Given the description of an element on the screen output the (x, y) to click on. 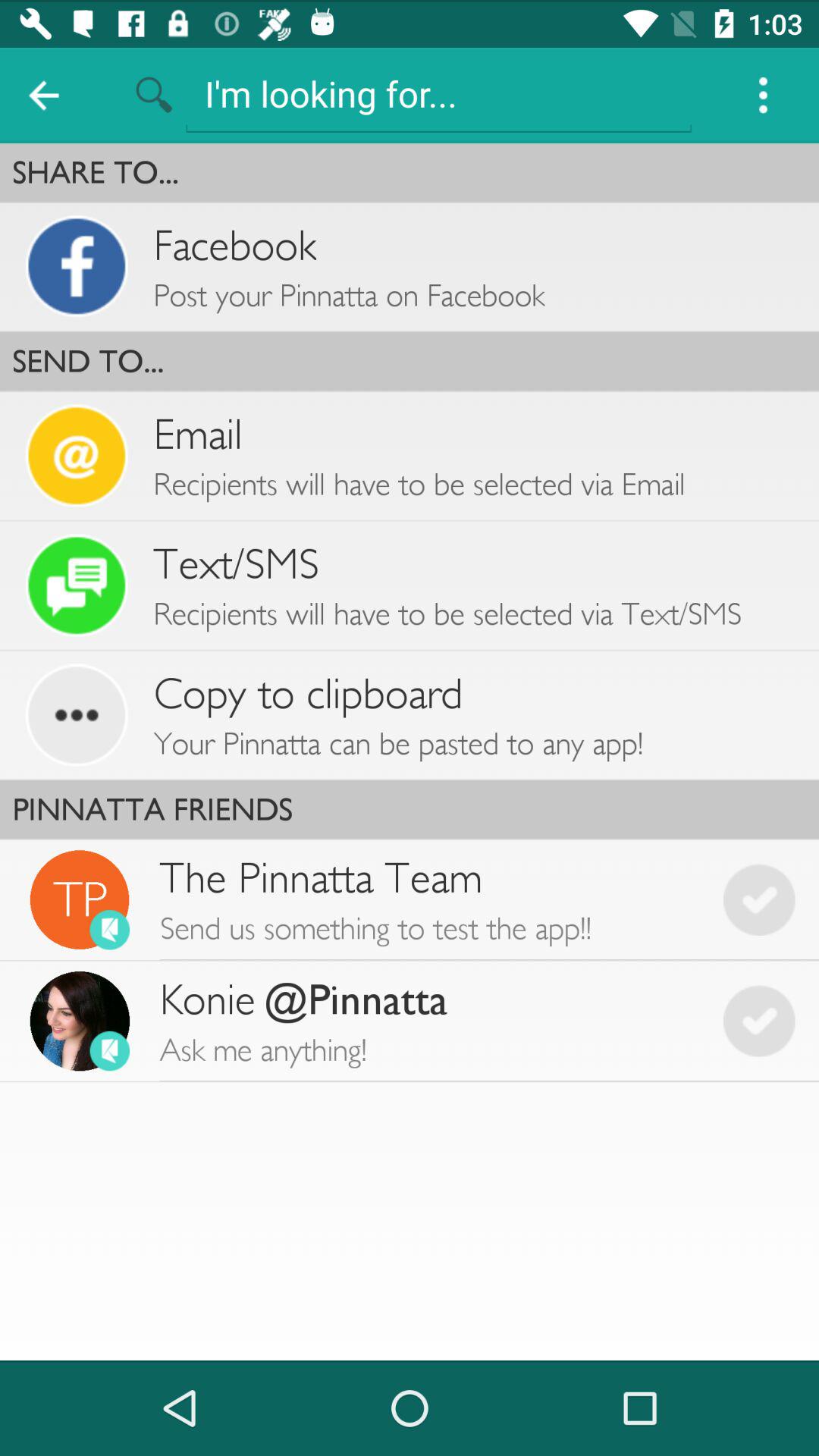
launch the icon below pinnatta friends (429, 899)
